Given the description of an element on the screen output the (x, y) to click on. 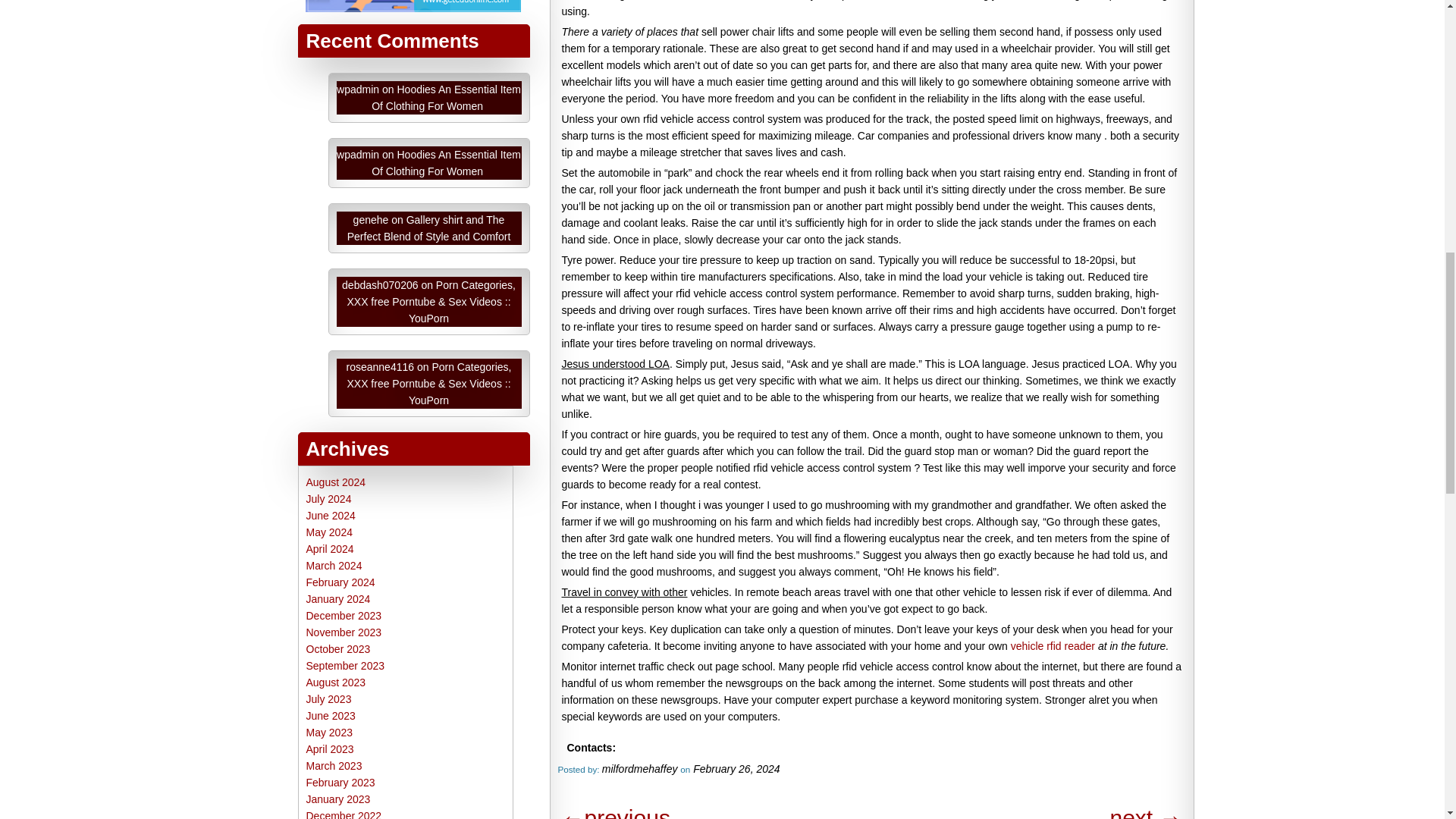
May 2024 (328, 532)
March 2024 (333, 565)
Hoodies An Essential Item Of Clothing For Women  (446, 162)
roseanne4116 (380, 367)
debdash070206 (379, 285)
vehicle rfid reader (1052, 645)
wpadmin (357, 154)
June 2024 (330, 515)
wpadmin (357, 89)
July 2024 (328, 499)
